Given the description of an element on the screen output the (x, y) to click on. 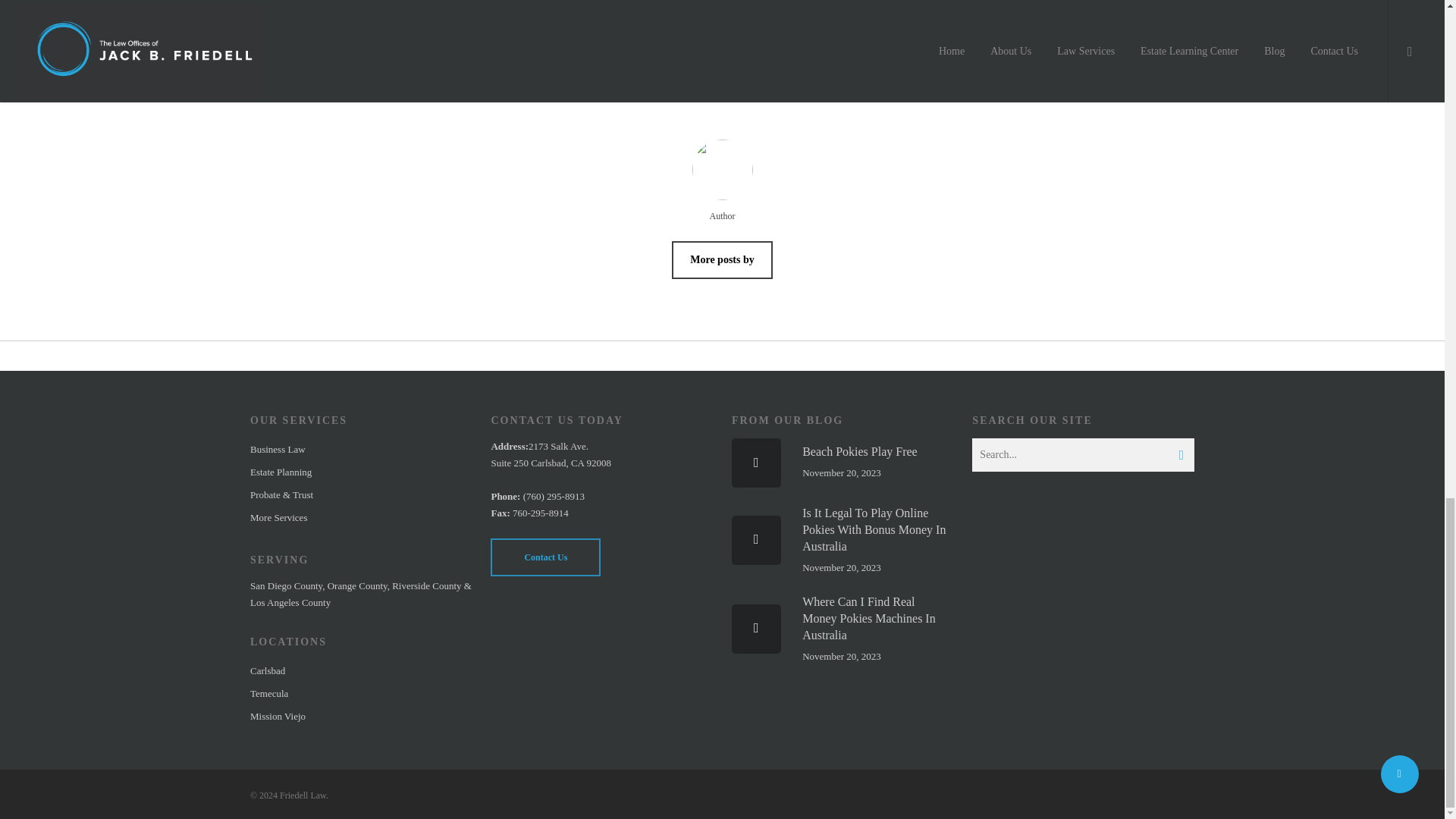
Search for: (1082, 454)
